Given the description of an element on the screen output the (x, y) to click on. 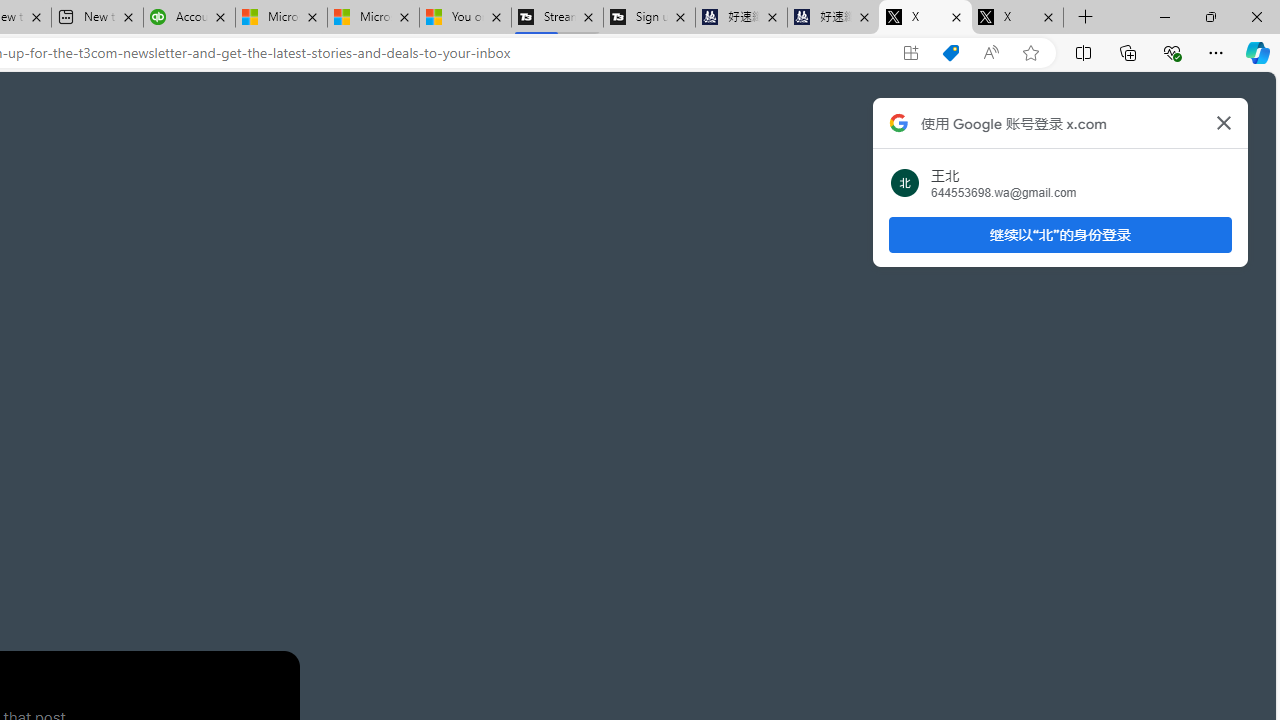
Class: Bz112c Bz112c-r9oPif (1224, 122)
App available. Install X (910, 53)
